Given the description of an element on the screen output the (x, y) to click on. 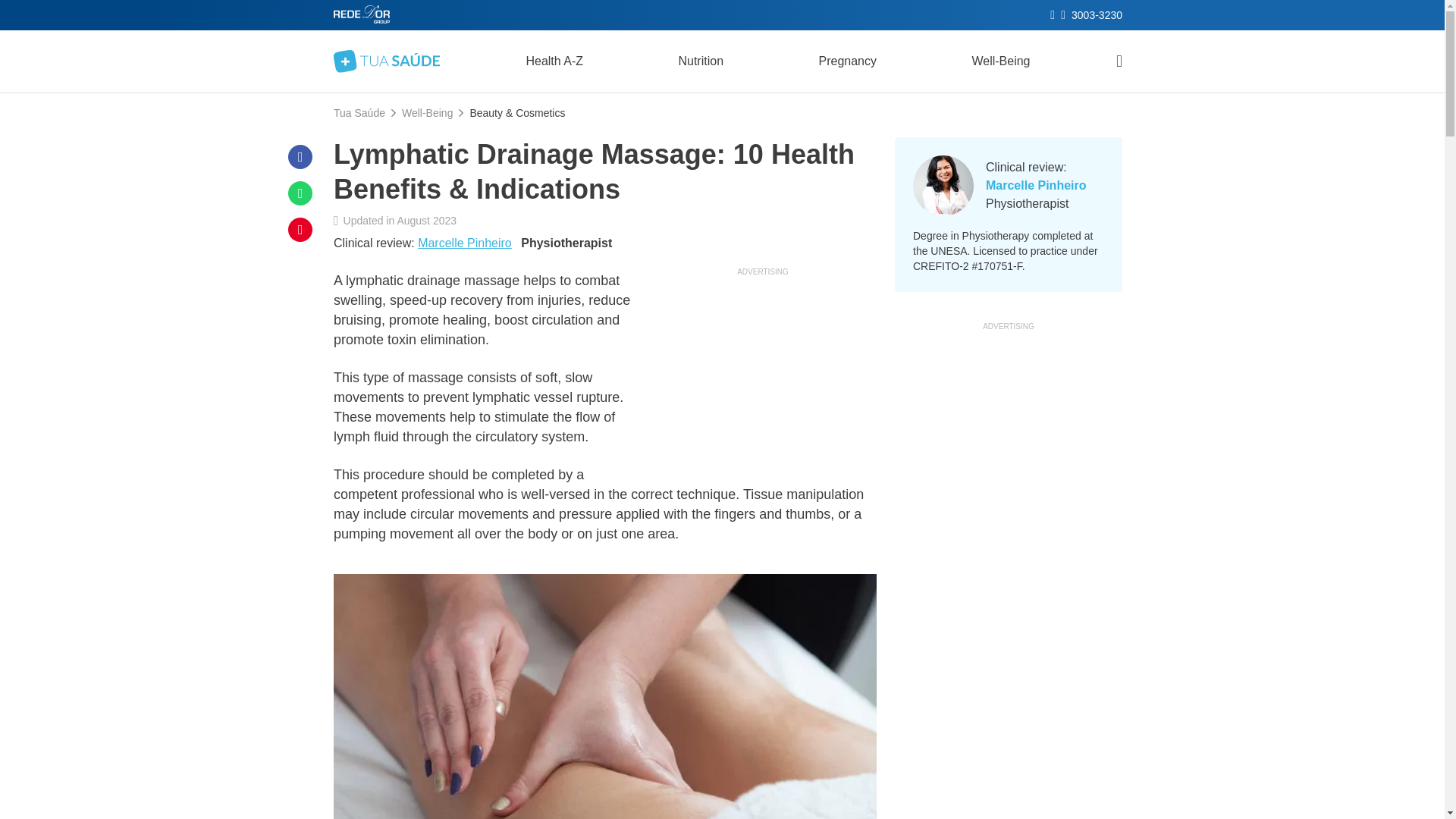
Well-Being (426, 112)
Marcelle Pinheiro (1035, 185)
Nutrition (700, 61)
Health A-Z (554, 61)
Marcelle Pinheiro (464, 243)
Well-Being (1000, 61)
Pregnancy (847, 61)
